Given the description of an element on the screen output the (x, y) to click on. 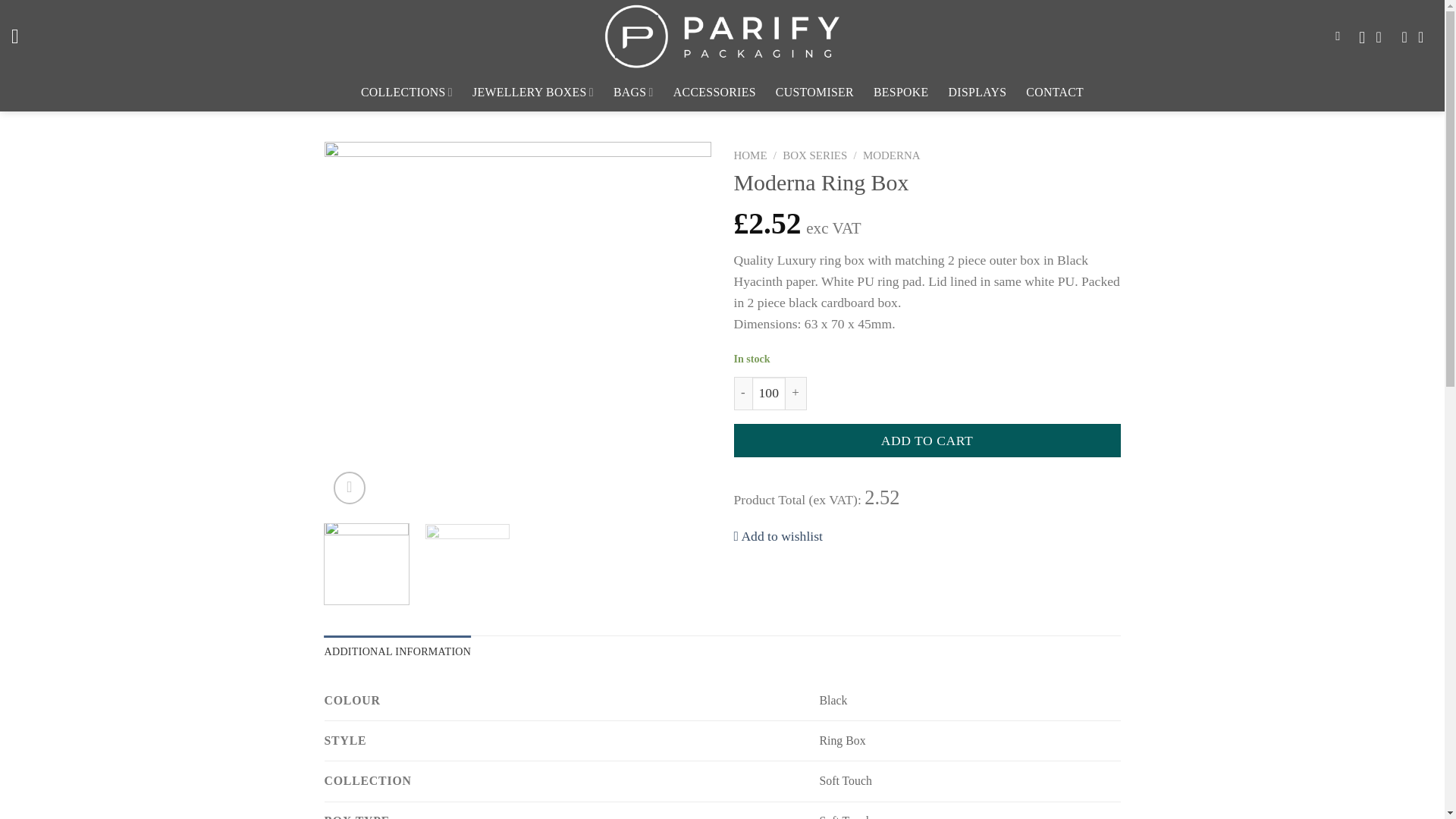
Zoom (349, 487)
DISPLAYS (978, 92)
ACCESSORIES (713, 92)
Qty (769, 393)
BAGS (632, 92)
100 (769, 393)
JEWELLERY BOXES (532, 92)
Parify Packaging (722, 36)
CONTACT (1054, 92)
COLLECTIONS (406, 92)
CUSTOMISER (814, 92)
BESPOKE (900, 92)
